Given the description of an element on the screen output the (x, y) to click on. 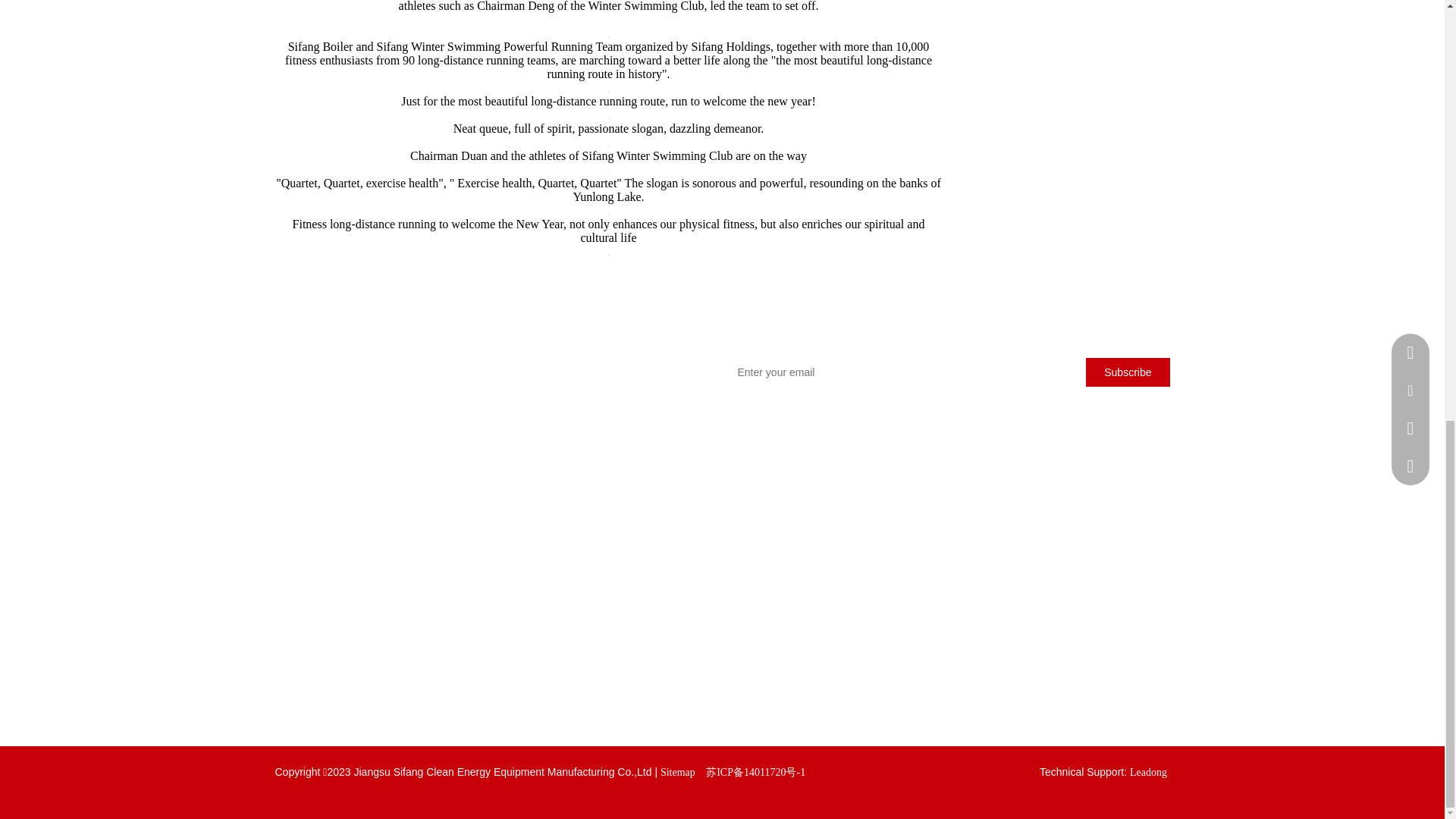
Biomass Boiler (307, 651)
About Us (446, 596)
Solution (443, 647)
News (437, 622)
Worry-free after-sales (624, 571)
Waste Heat Boiler (313, 624)
Subscribe (1127, 371)
Coal Fired boiler (311, 572)
Pressure Vessel (307, 677)
Home (438, 571)
